Given the description of an element on the screen output the (x, y) to click on. 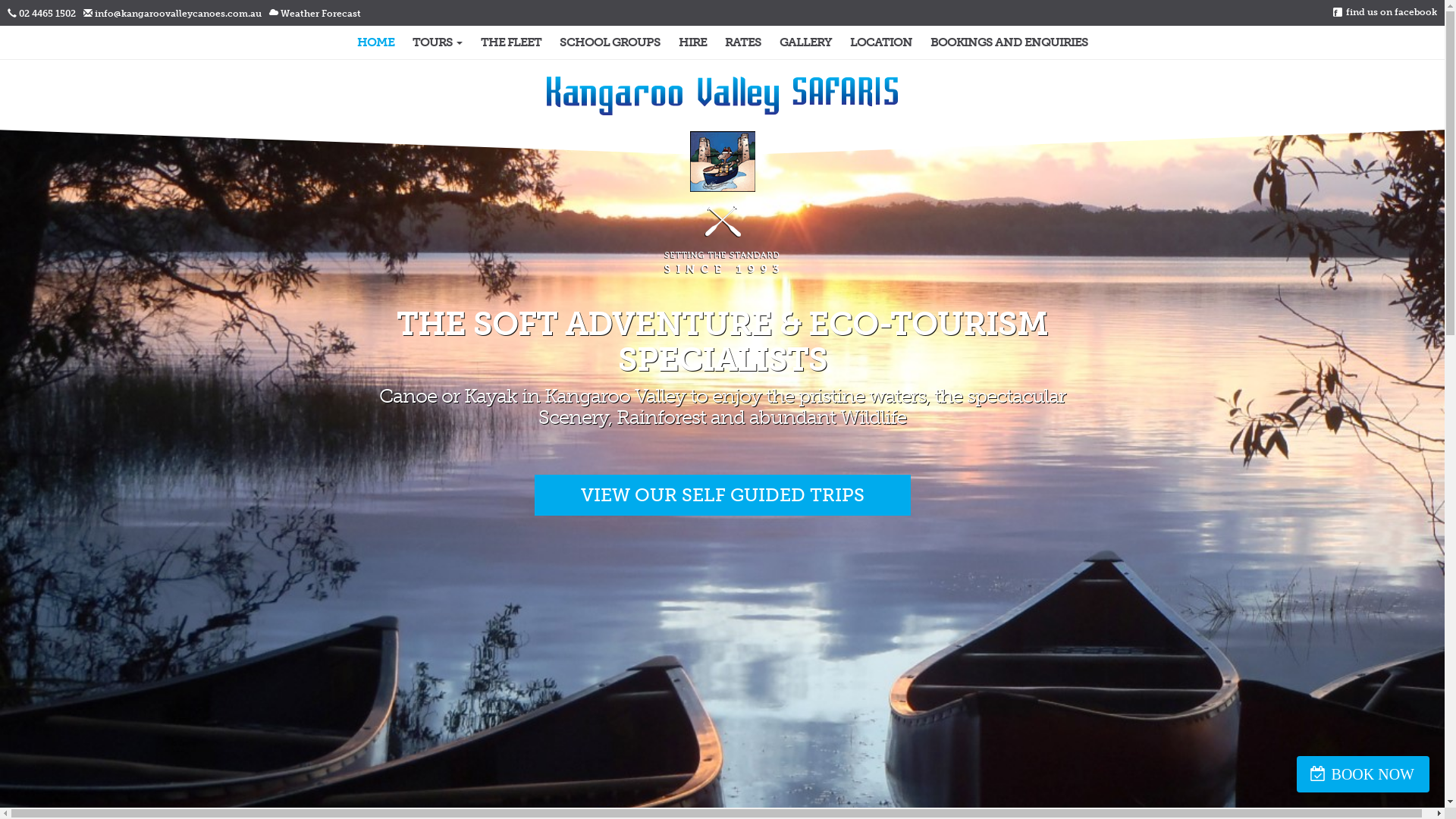
THE FLEET Element type: text (511, 42)
info@kangaroovalleycanoes.com.au Element type: text (177, 13)
BOOKINGS AND ENQUIRIES Element type: text (1008, 42)
GALLERY Element type: text (805, 42)
BOOK NOW Element type: text (1362, 774)
find us on facebook Element type: text (1391, 11)
TOURS Element type: text (437, 42)
HIRE Element type: text (691, 42)
SCHOOL GROUPS Element type: text (610, 42)
LOCATION Element type: text (880, 42)
HOME Element type: text (374, 42)
VIEW OUR SELF GUIDED TRIPS Element type: text (721, 494)
Weather Forecast Element type: text (320, 13)
RATES Element type: text (742, 42)
